Given the description of an element on the screen output the (x, y) to click on. 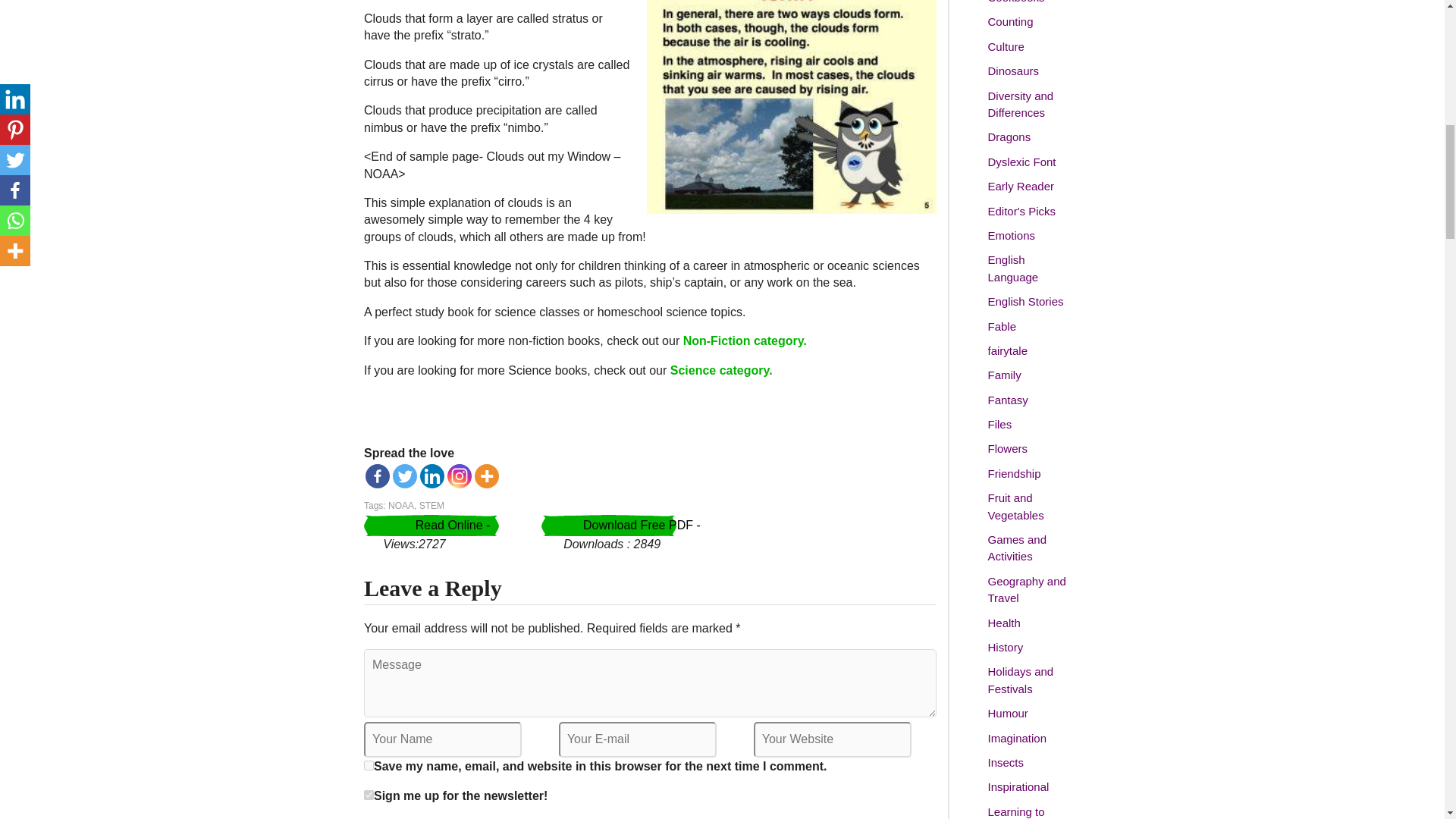
yes (369, 765)
Twitter (404, 476)
More (486, 476)
1 (369, 795)
Facebook (377, 476)
Linkedin (432, 476)
Instagram (458, 476)
